Given the description of an element on the screen output the (x, y) to click on. 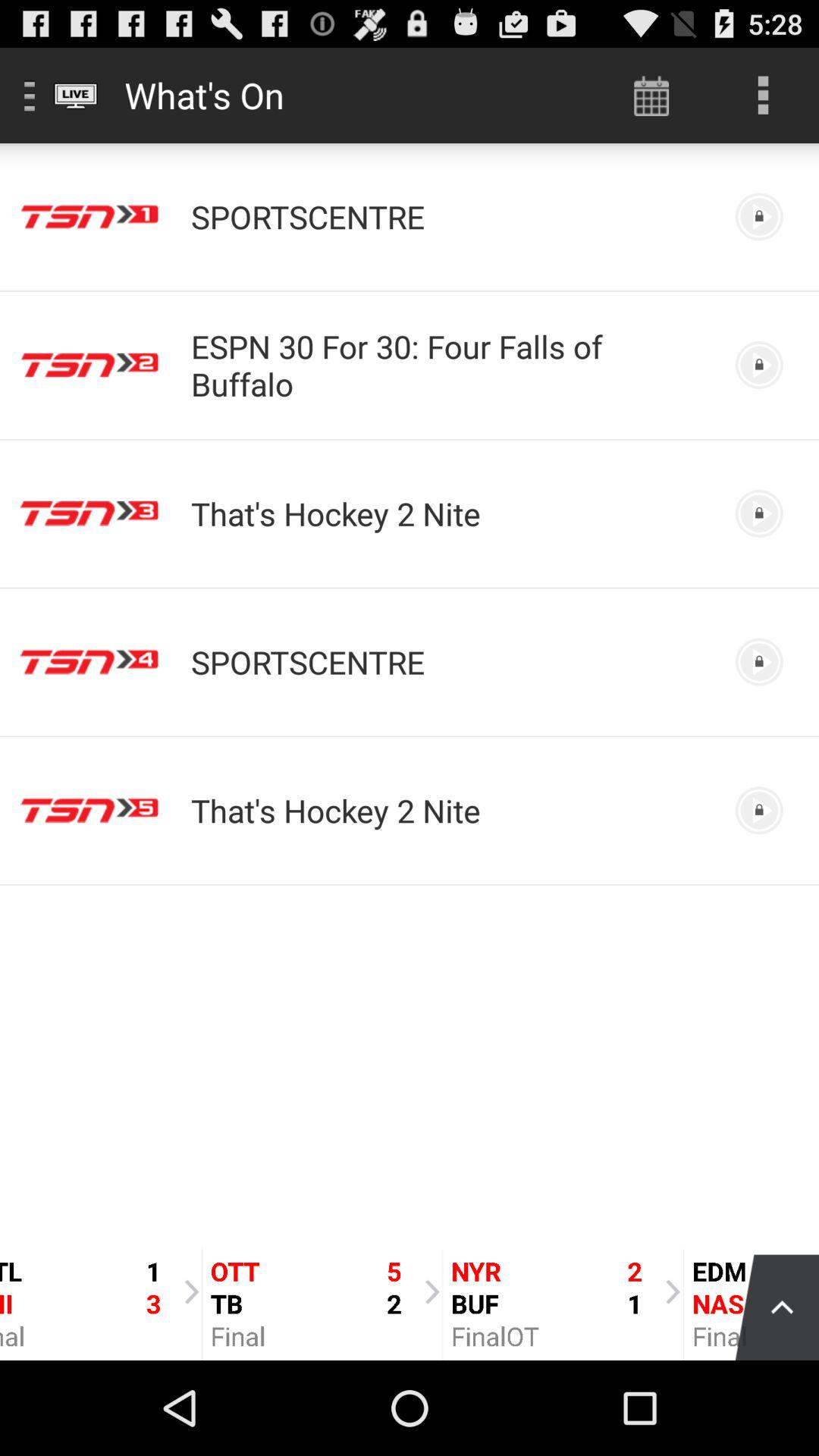
open icon to the right of the what's on item (651, 95)
